Given the description of an element on the screen output the (x, y) to click on. 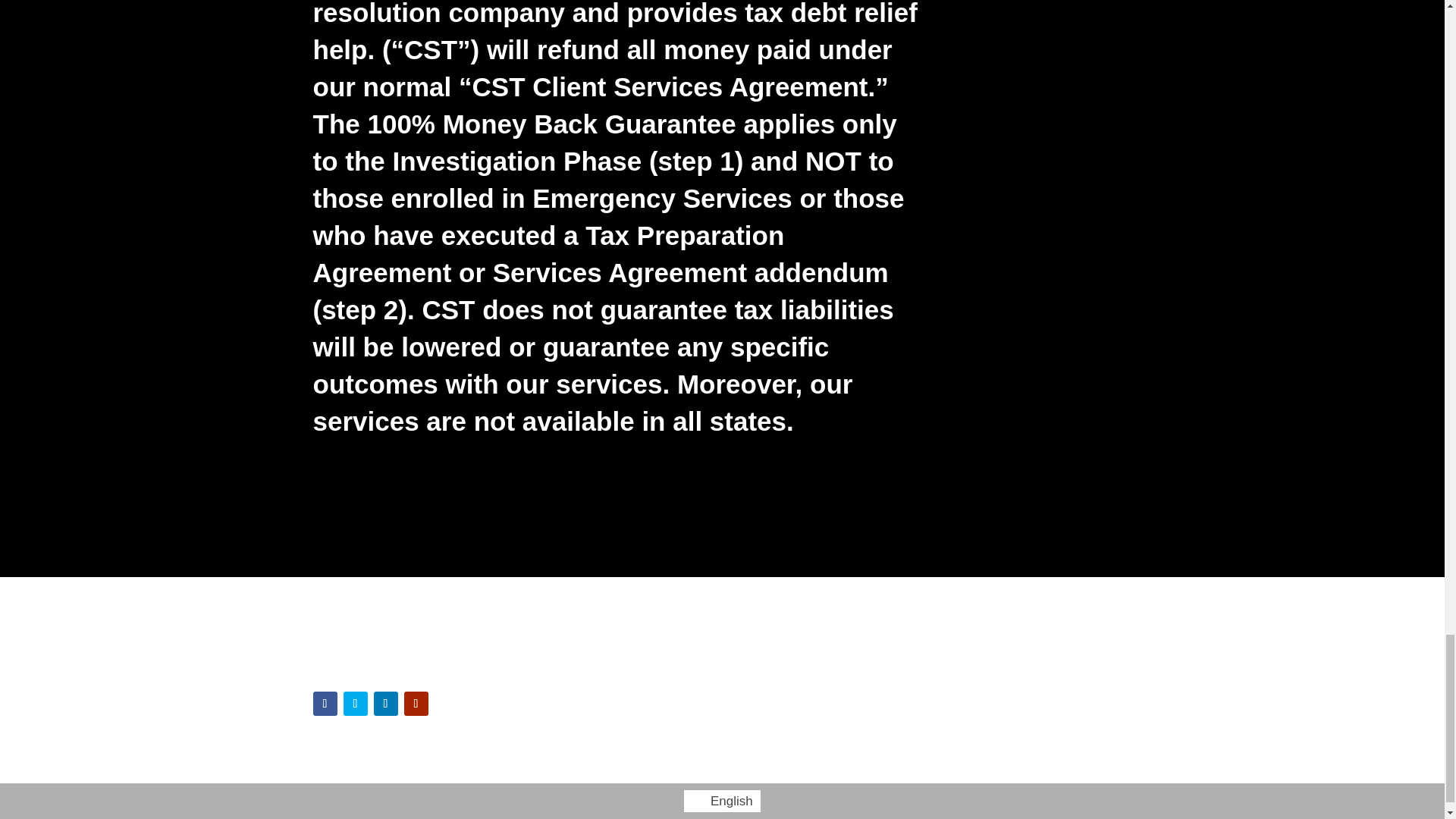
Follow on Twitter (354, 703)
Follow on Facebook (324, 703)
Follow on LinkedIn (384, 703)
